Given the description of an element on the screen output the (x, y) to click on. 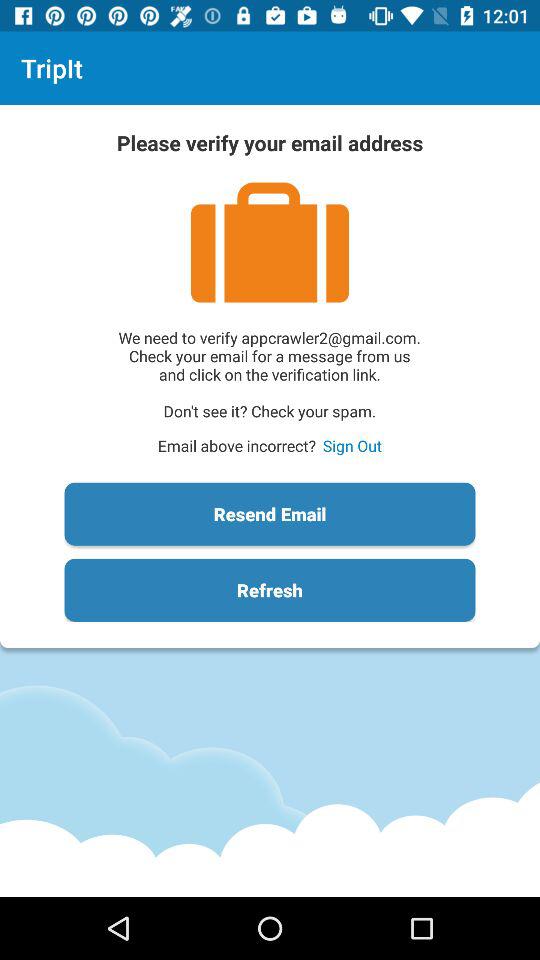
press the item next to the email above incorrect? icon (352, 445)
